Given the description of an element on the screen output the (x, y) to click on. 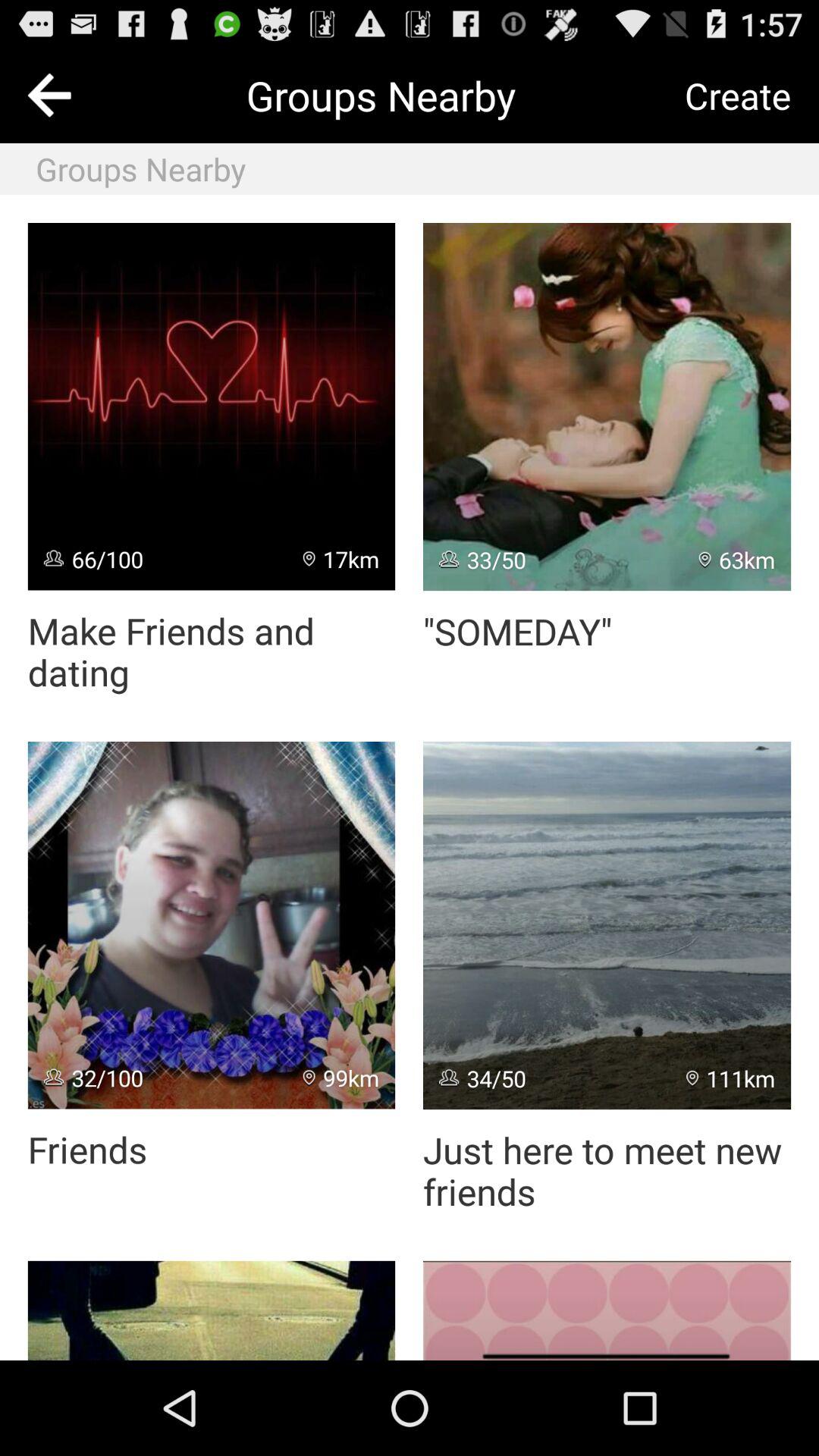
turn off icon next to 33/50 item (736, 559)
